Given the description of an element on the screen output the (x, y) to click on. 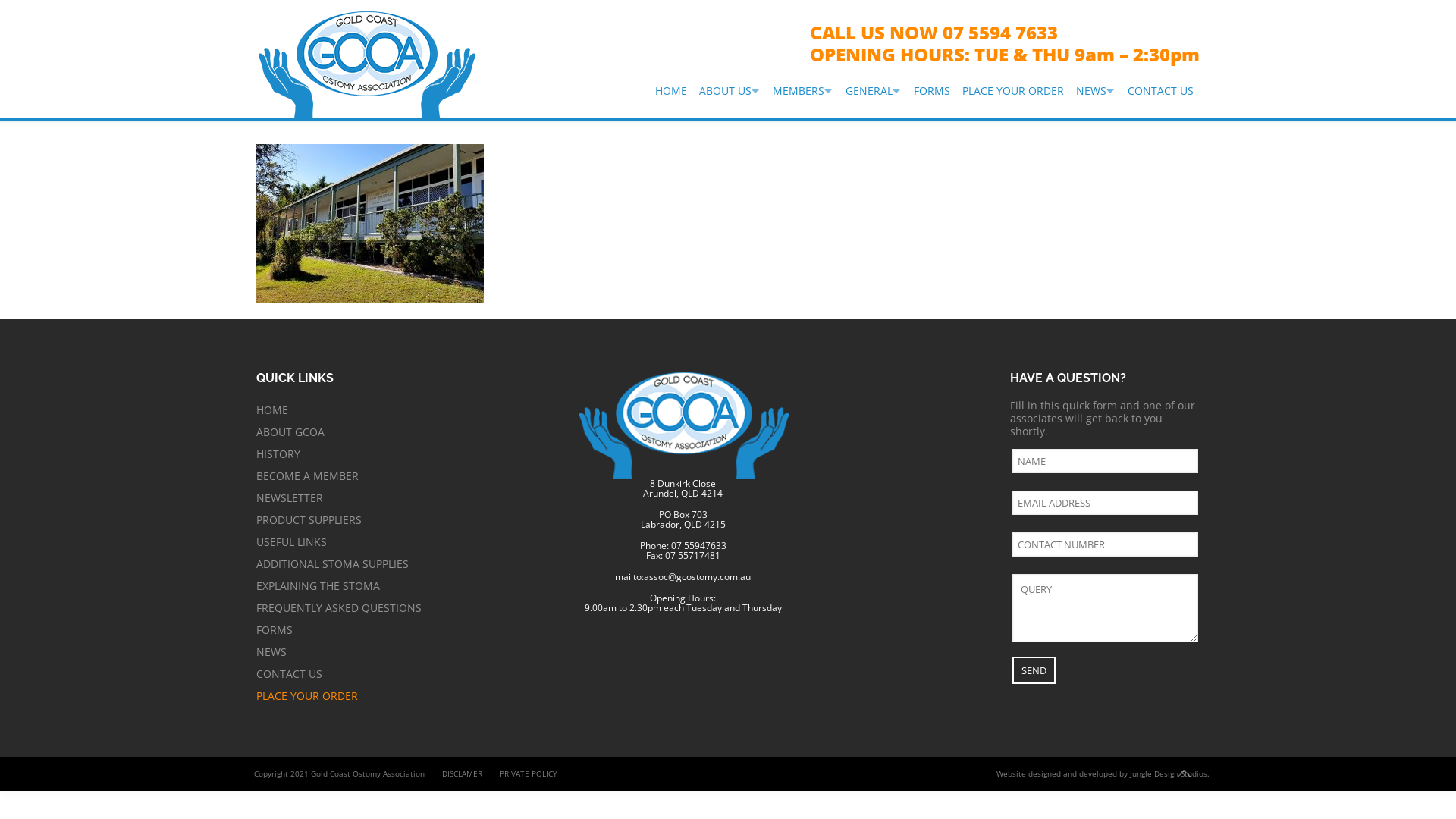
USEFUL LINKS Element type: text (407, 541)
MEMBERS Element type: text (802, 90)
CALL US NOW 07 5594 7633 Element type: text (933, 31)
Phone: 07 55947633 Element type: text (683, 545)
mailto:assoc@gcostomy.com.au Element type: text (682, 576)
PLACE YOUR ORDER Element type: text (1013, 90)
SEND Element type: text (1033, 670)
ABOUT GCOA Element type: text (407, 431)
Website designed and developed by Jungle Design Studios. Element type: text (1102, 773)
GENERAL Element type: text (873, 90)
FREQUENTLY ASKED QUESTIONS Element type: text (407, 607)
HOME Element type: text (407, 409)
Copyright 2021 Gold Coast Ostomy Association Element type: text (339, 773)
CONTACT US Element type: text (407, 673)
ABOUT US Element type: text (729, 90)
NEWSLETTER Element type: text (407, 497)
FORMS Element type: text (407, 629)
PLACE YOUR ORDER Element type: text (407, 695)
PRIVATE POLICY Element type: text (528, 773)
FORMS Element type: text (931, 90)
EXPLAINING THE STOMA Element type: text (407, 585)
ADDITIONAL STOMA SUPPLIES Element type: text (407, 563)
DISCLAMER Element type: text (461, 773)
NEWS Element type: text (407, 651)
HISTORY Element type: text (407, 453)
PRODUCT SUPPLIERS Element type: text (407, 519)
CONTACT US Element type: text (1160, 90)
NEWS Element type: text (1095, 90)
BECOME A MEMBER Element type: text (407, 475)
HOME Element type: text (671, 90)
